Given the description of an element on the screen output the (x, y) to click on. 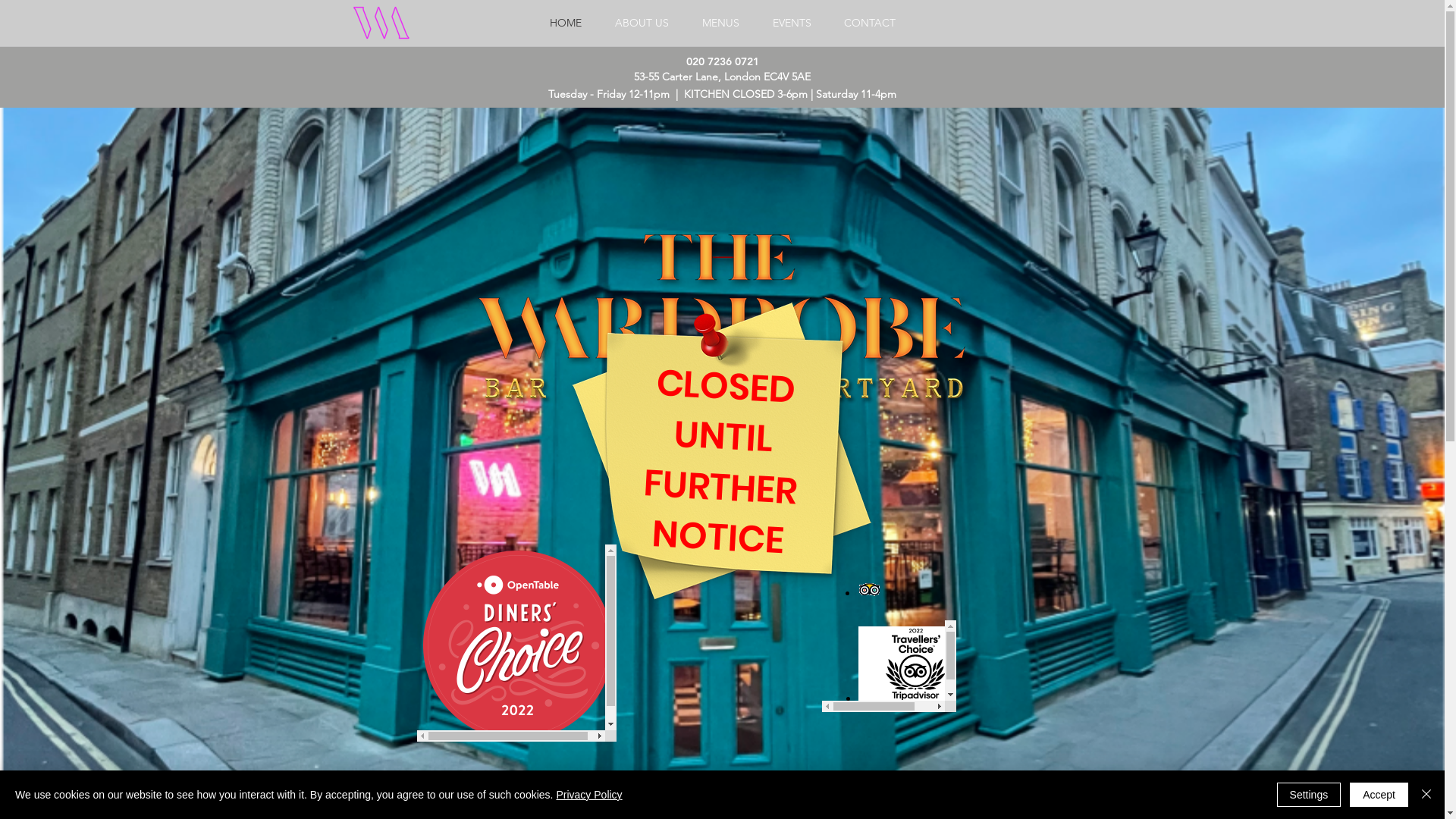
MENUS Element type: text (720, 21)
Embedded Content Element type: hover (887, 618)
Accept Element type: text (1378, 794)
HOME Element type: text (564, 21)
Restaurant Social Bar Element type: hover (1040, 26)
Embedded Content Element type: hover (721, 642)
EVENTS Element type: text (791, 21)
Settings Element type: text (1309, 794)
Embedded Content Element type: hover (889, 666)
Embedded Content Element type: hover (516, 642)
ABOUT US Element type: text (640, 21)
Privacy Policy Element type: text (588, 794)
CONTACT Element type: text (870, 21)
